Given the description of an element on the screen output the (x, y) to click on. 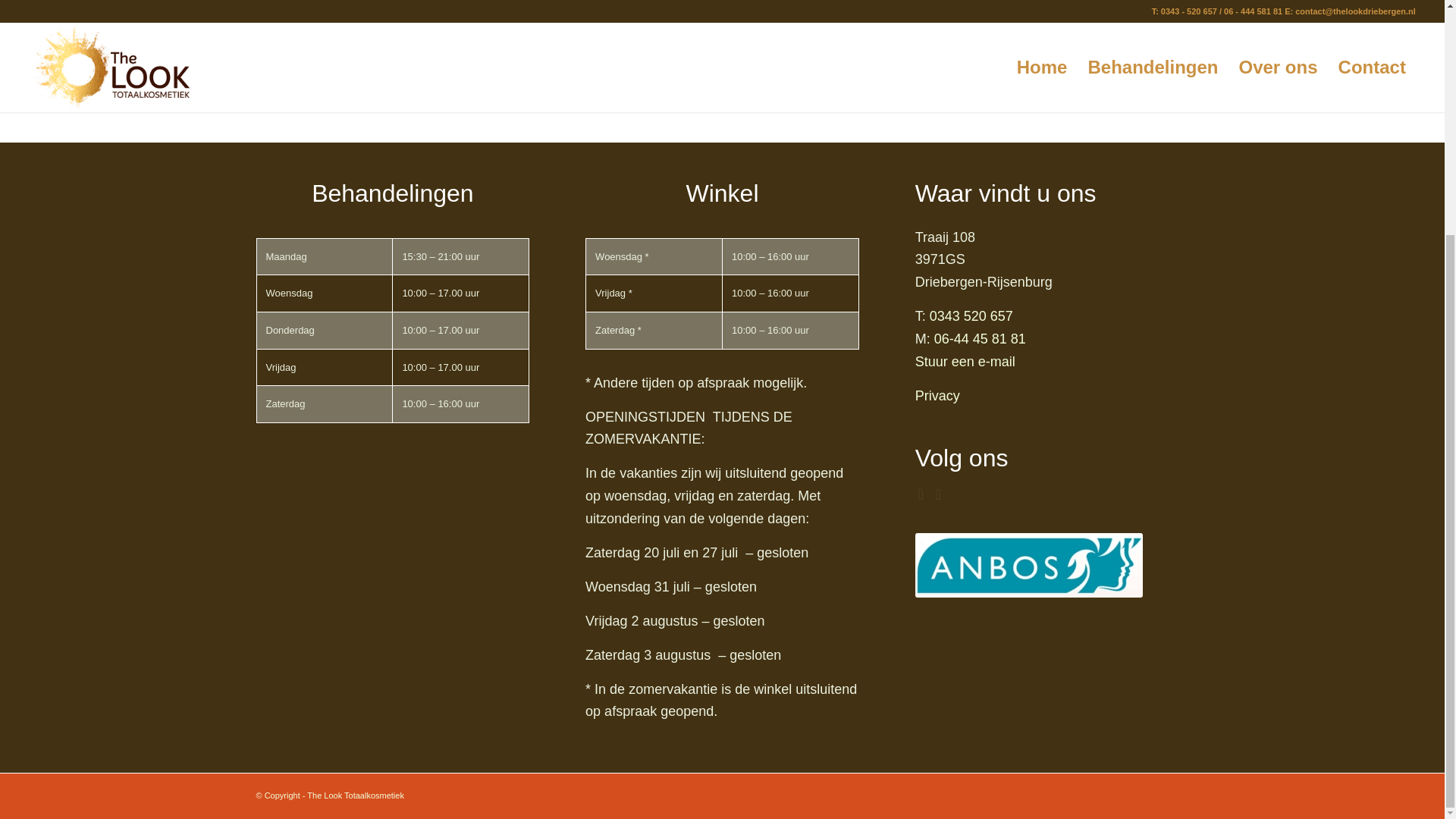
anbos-logo-1030x291 (1028, 565)
Privacy (937, 395)
Stuur een e-mail (964, 361)
0343 520 657 (971, 315)
06-44 45 81 81 (980, 338)
